Given the description of an element on the screen output the (x, y) to click on. 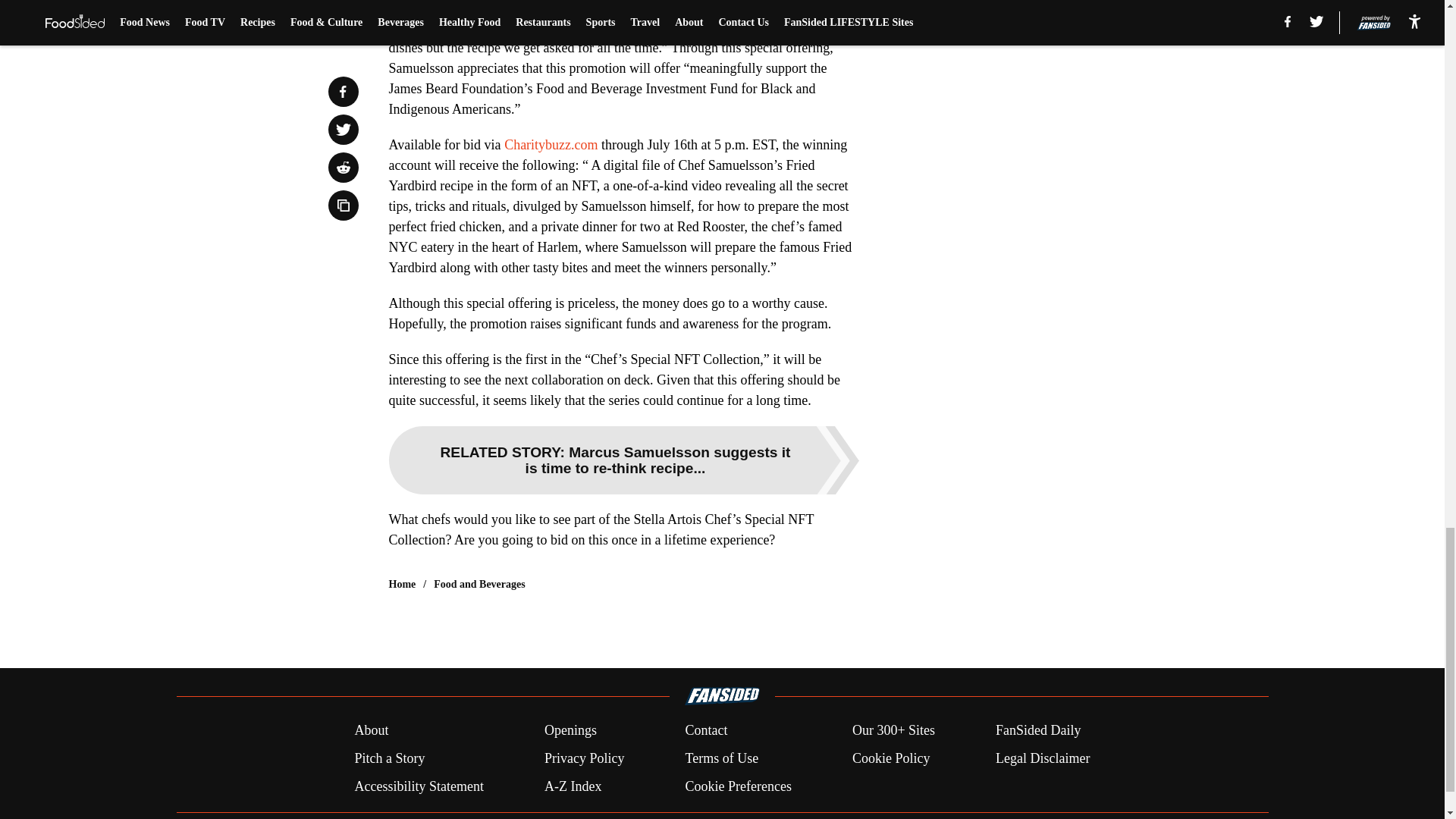
Privacy Policy (584, 758)
Openings (570, 730)
FanSided Daily (1038, 730)
Legal Disclaimer (1042, 758)
Contact (705, 730)
Terms of Use (721, 758)
Home (401, 584)
Food and Beverages (479, 584)
Charitybuzz.com (549, 144)
About (370, 730)
